Given the description of an element on the screen output the (x, y) to click on. 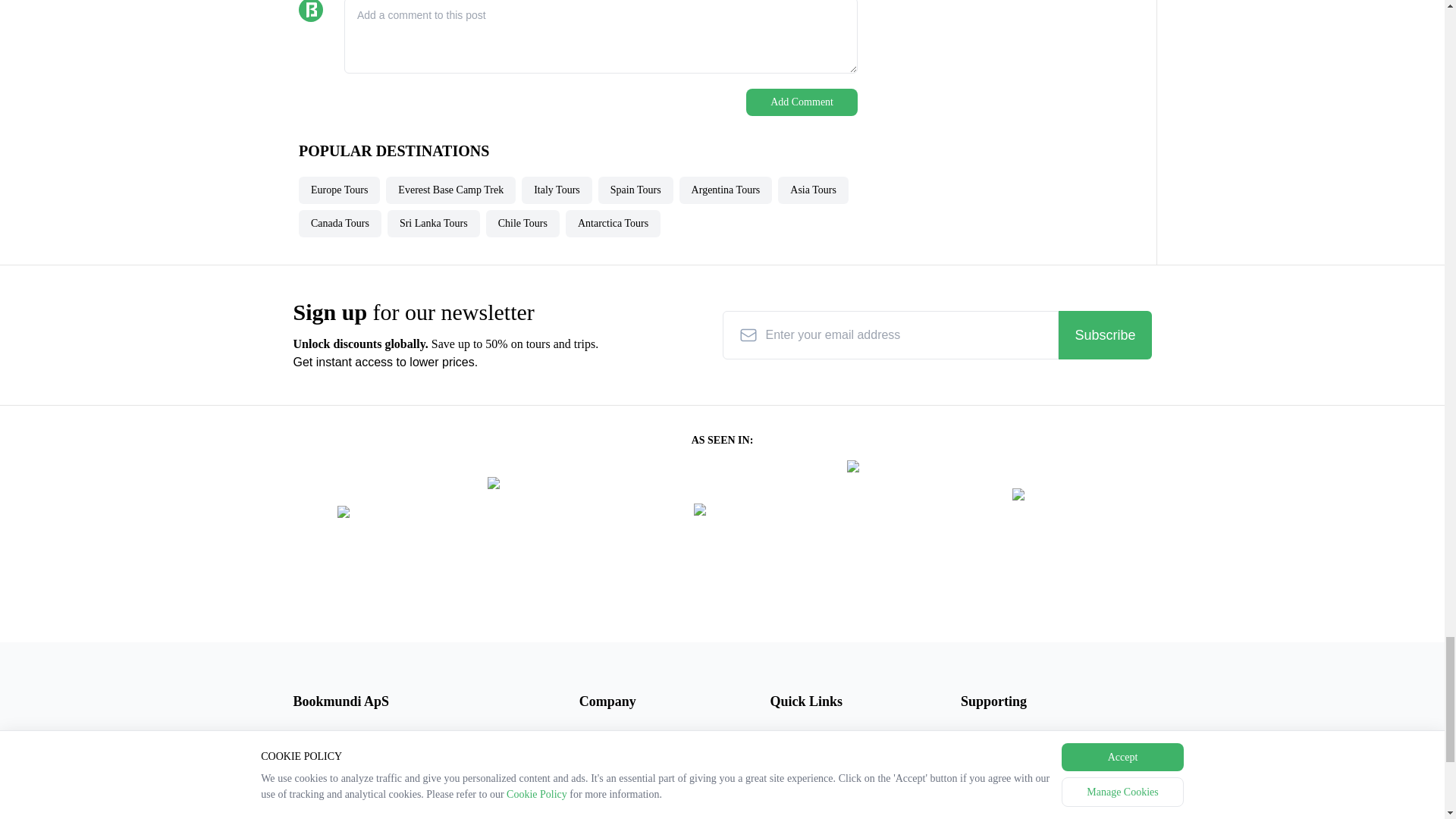
Italy Tours (556, 189)
Add Comment (801, 102)
Asia Tours (812, 189)
Spain Tours (635, 189)
Argentina Tours (726, 189)
Antarctica Tours (613, 223)
Canada Tours (339, 223)
Chile Tours (522, 223)
Europe Tours (339, 189)
Everest Base Camp Trek (450, 189)
